Given the description of an element on the screen output the (x, y) to click on. 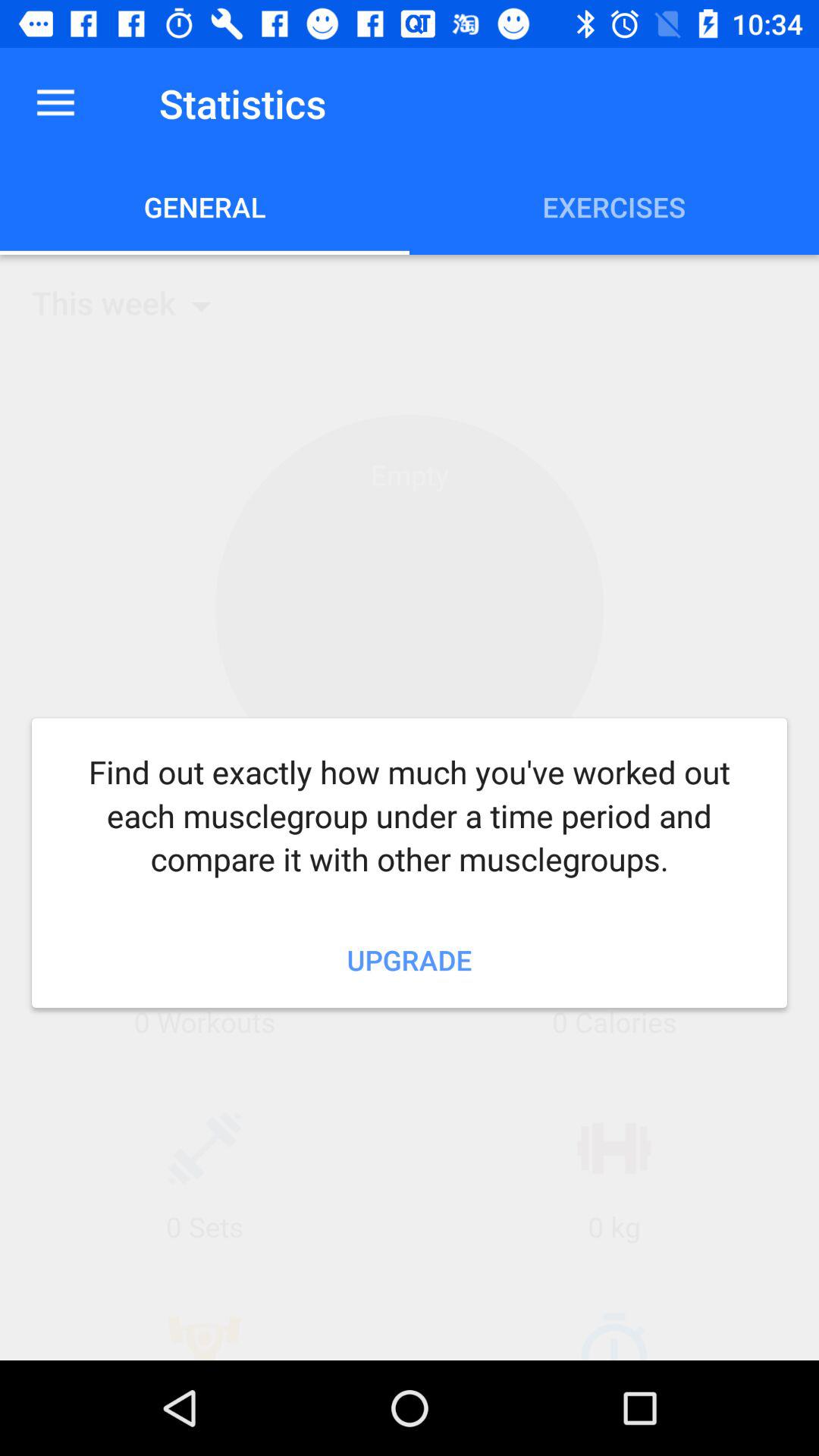
swipe until the exercises icon (614, 206)
